Given the description of an element on the screen output the (x, y) to click on. 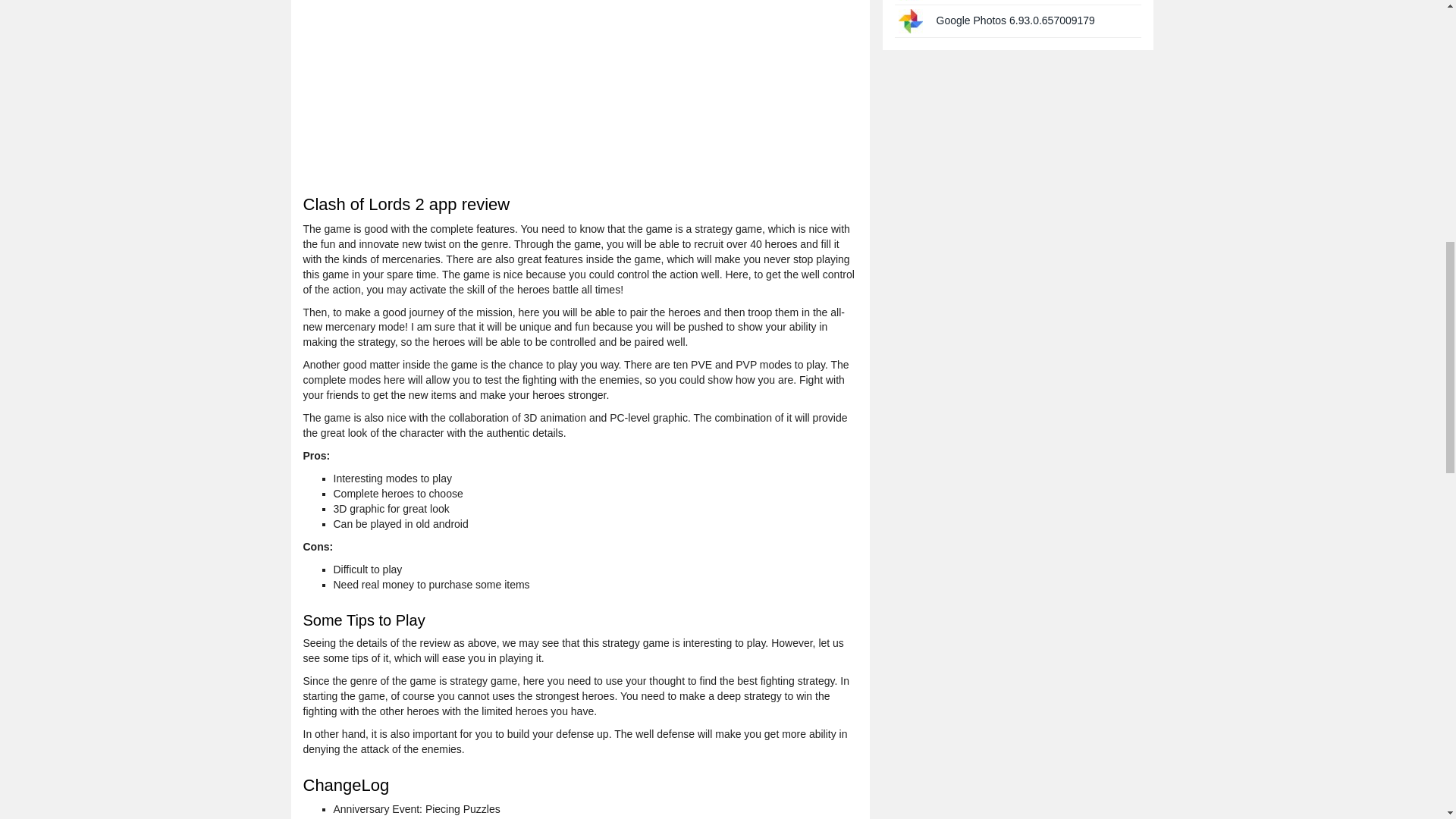
Advertisement (579, 88)
